Given the description of an element on the screen output the (x, y) to click on. 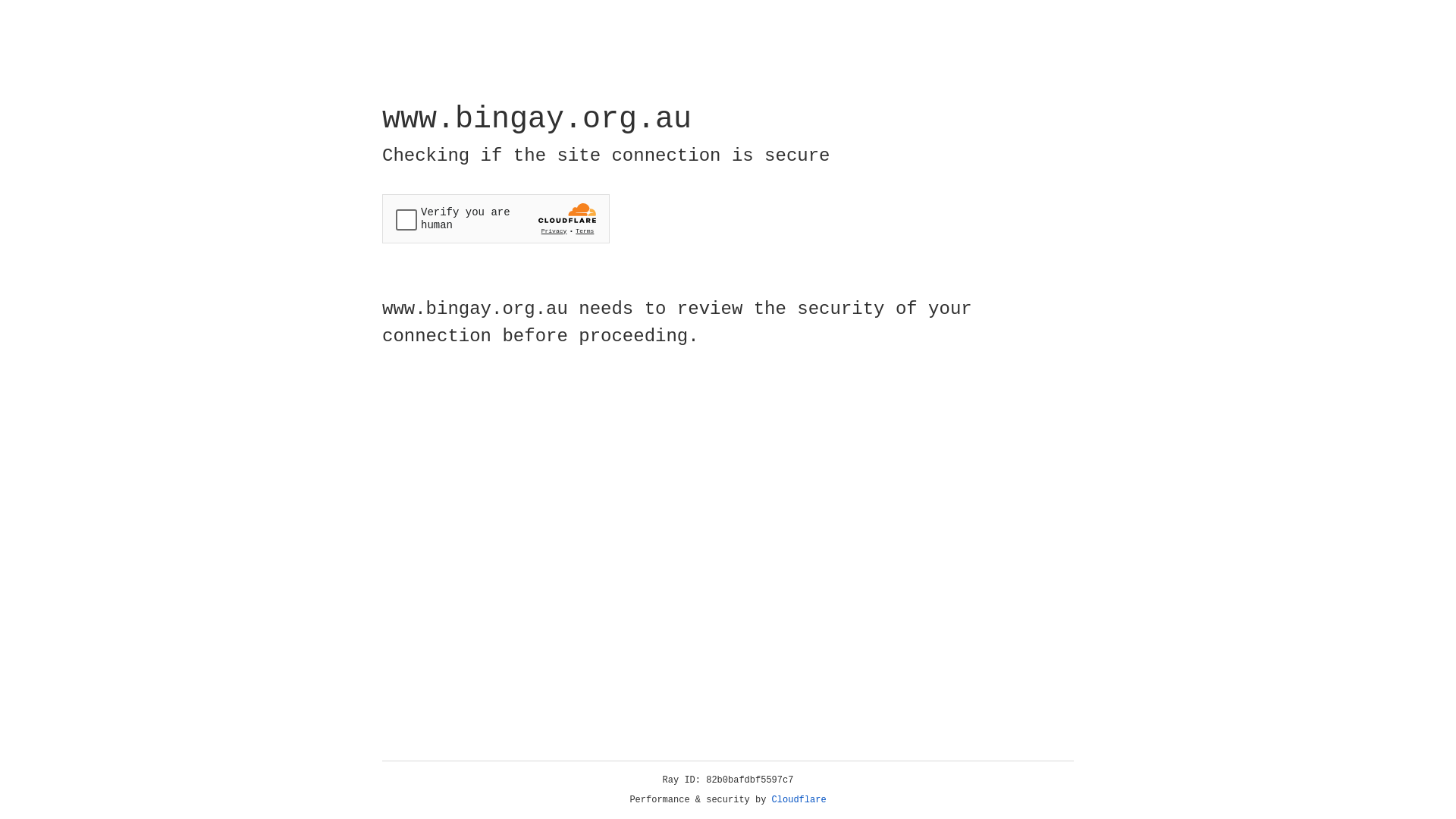
Widget containing a Cloudflare security challenge Element type: hover (495, 218)
Cloudflare Element type: text (798, 799)
